Given the description of an element on the screen output the (x, y) to click on. 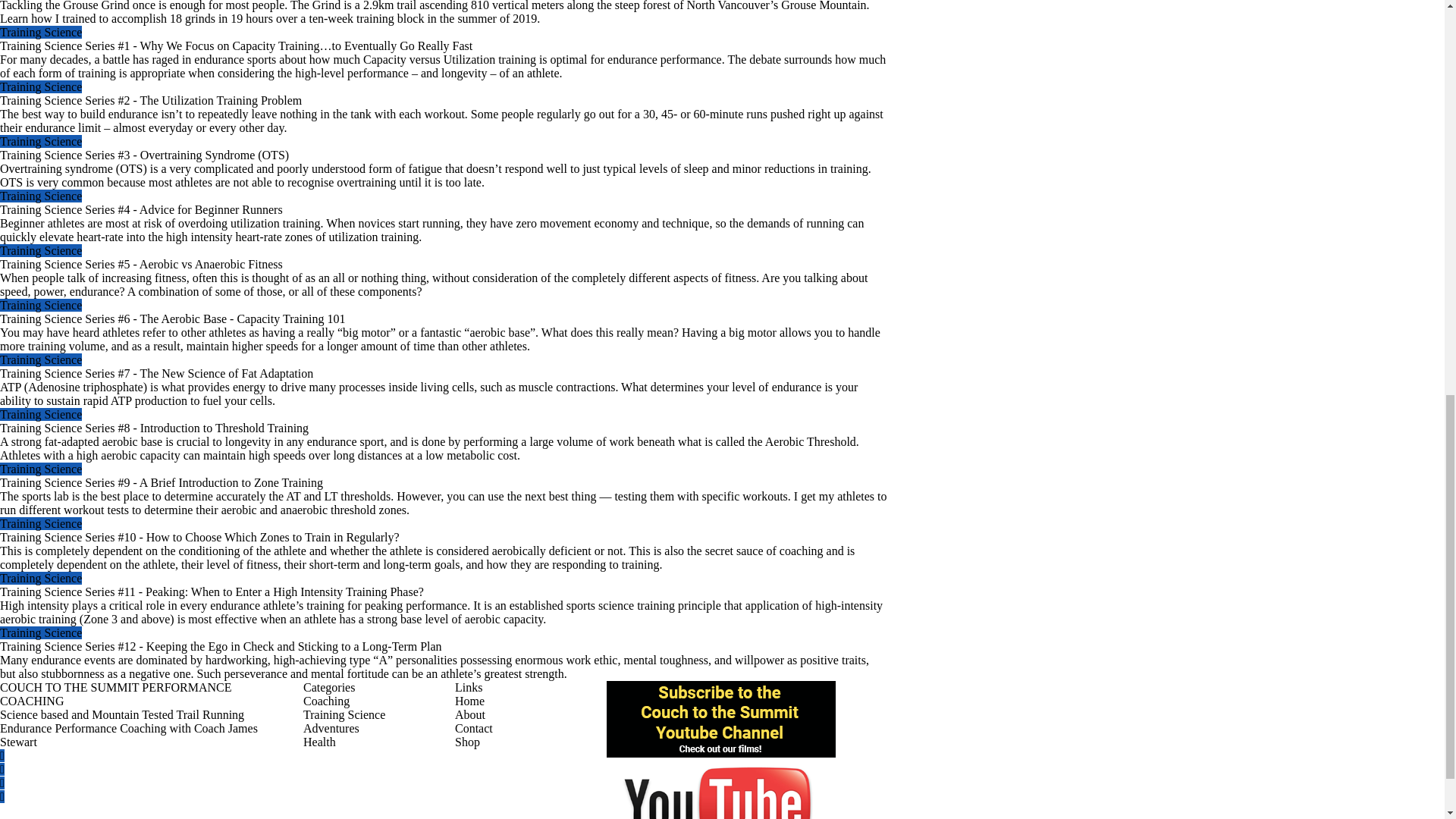
Training Science (40, 31)
Training Science (40, 86)
Training Science (40, 195)
Training Science (40, 141)
